Given the description of an element on the screen output the (x, y) to click on. 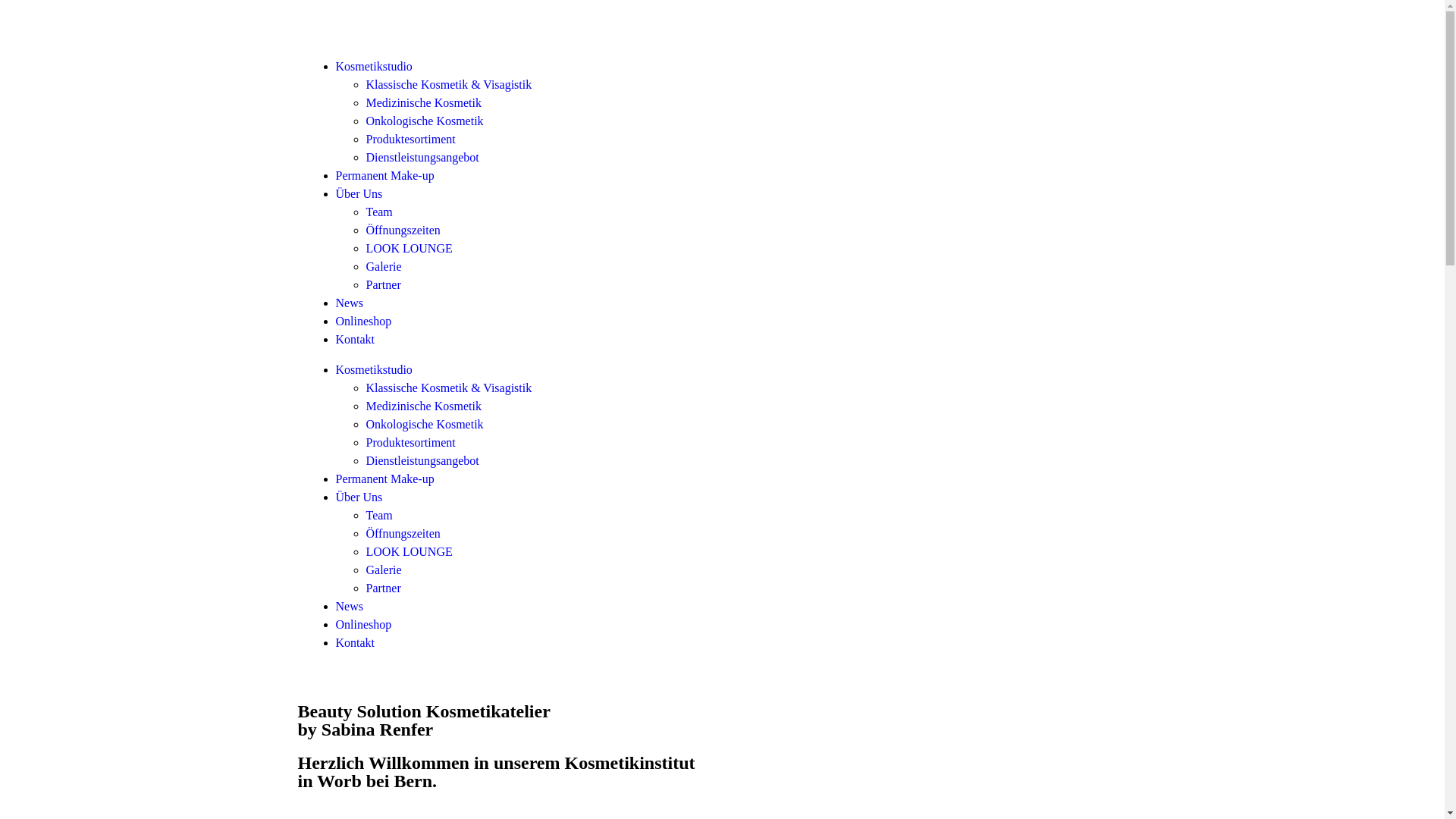
Dienstleistungsangebot Element type: text (421, 156)
News Element type: text (348, 605)
Produktesortiment Element type: text (410, 442)
Team Element type: text (378, 514)
Permanent Make-up Element type: text (384, 175)
LOOK LOUNGE Element type: text (408, 551)
Onlineshop Element type: text (363, 624)
Dienstleistungsangebot Element type: text (421, 460)
Produktesortiment Element type: text (410, 138)
Onkologische Kosmetik Element type: text (424, 120)
Galerie Element type: text (383, 569)
LOOK LOUNGE Element type: text (408, 247)
News Element type: text (348, 302)
Partner Element type: text (382, 284)
Medizinische Kosmetik Element type: text (422, 102)
Kontakt Element type: text (354, 642)
Kontakt Element type: text (354, 338)
Partner Element type: text (382, 587)
Kosmetikstudio Element type: text (373, 369)
Galerie Element type: text (383, 266)
Onlineshop Element type: text (363, 320)
Kosmetikstudio Element type: text (373, 65)
Permanent Make-up Element type: text (384, 478)
Team Element type: text (378, 211)
Klassische Kosmetik & Visagistik Element type: text (448, 84)
Medizinische Kosmetik Element type: text (422, 405)
Klassische Kosmetik & Visagistik Element type: text (448, 387)
Onkologische Kosmetik Element type: text (424, 423)
